Given the description of an element on the screen output the (x, y) to click on. 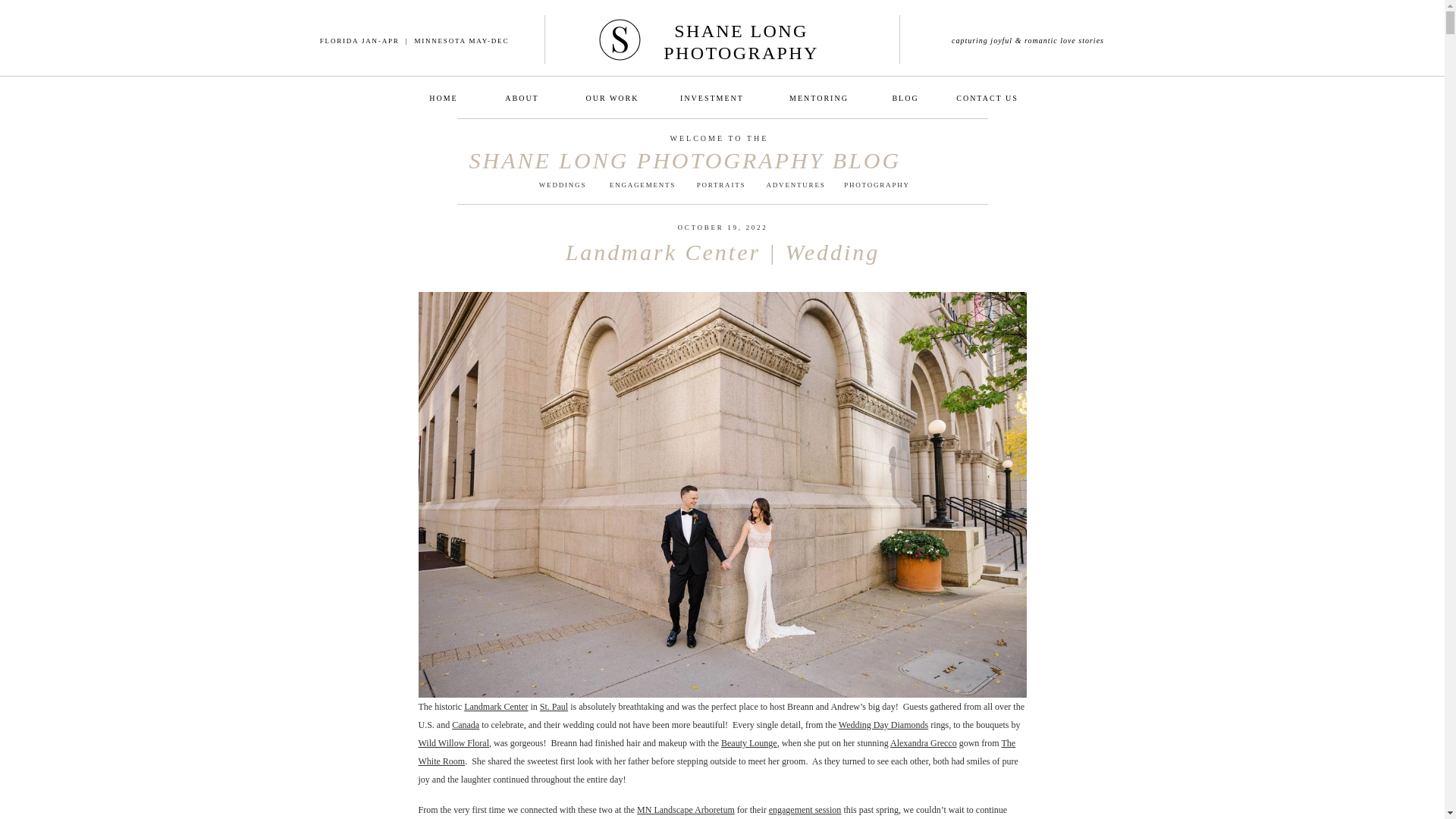
ENGAGEMENTS (642, 188)
MENTORING (819, 96)
SHANE LONG PHOTOGRAPHY BLOG (721, 160)
INVESTMENT (711, 96)
SHANE LONG PHOTOGRAPHY (739, 39)
CONTACT US (986, 96)
BLOG (905, 96)
HOME (443, 96)
WEDDINGS (562, 188)
OUR WORK (612, 96)
PORTRAITS (720, 188)
ABOUT (522, 96)
